Given the description of an element on the screen output the (x, y) to click on. 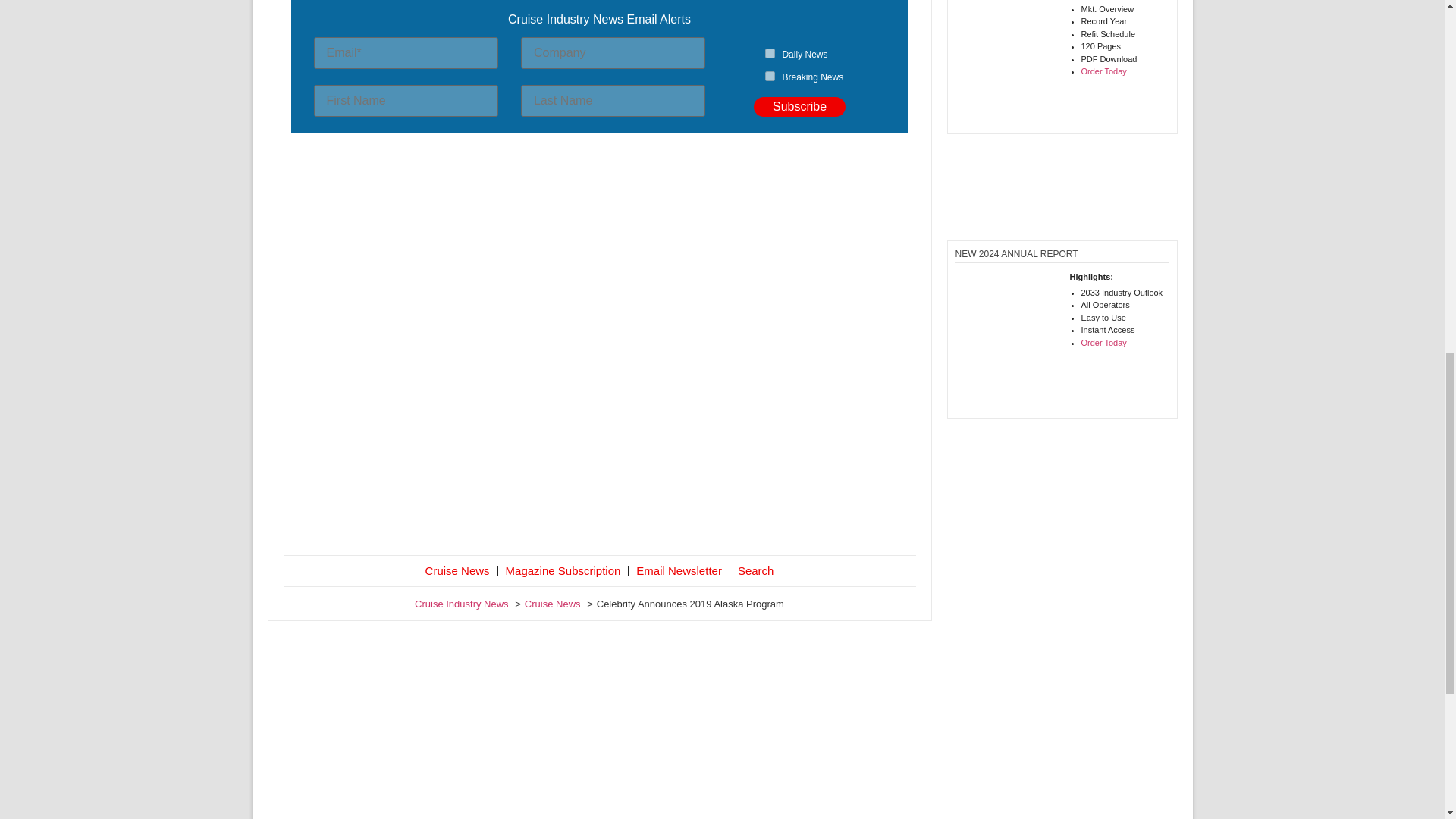
2 (769, 76)
1 (769, 53)
Subscribe (799, 107)
